Given the description of an element on the screen output the (x, y) to click on. 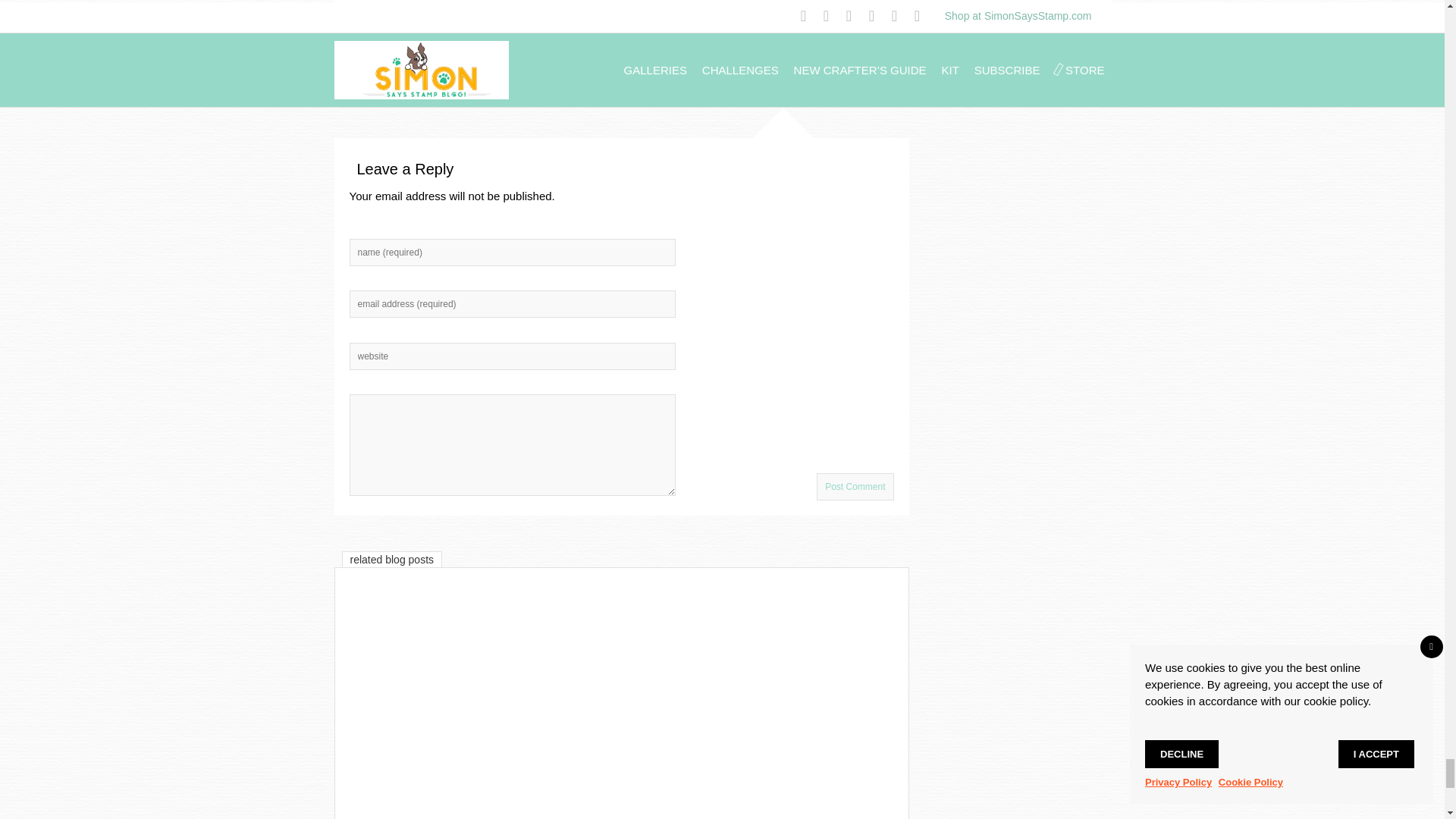
Post Comment (854, 486)
